Given the description of an element on the screen output the (x, y) to click on. 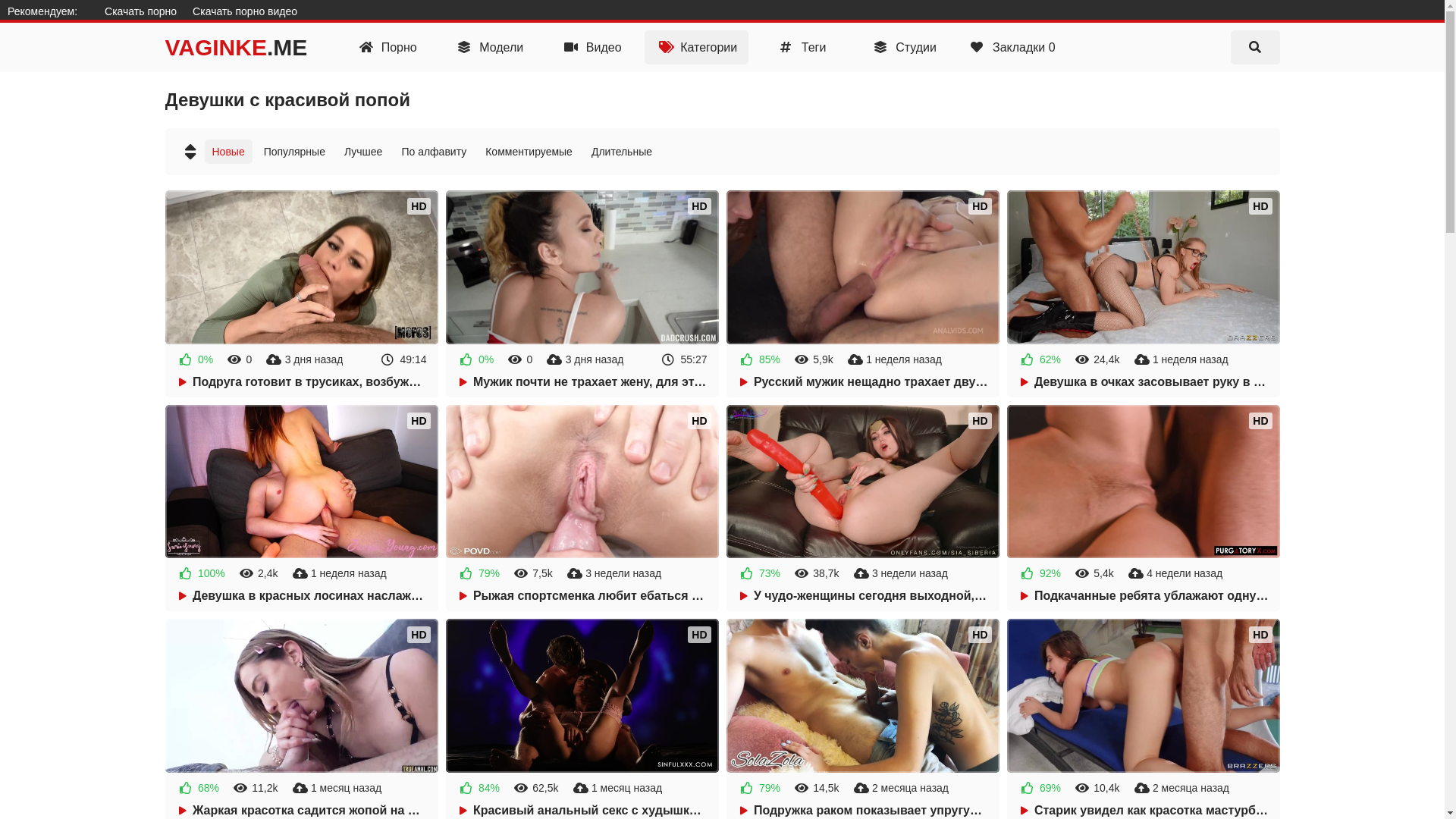
VAGINKE.ME Element type: text (236, 47)
